Given the description of an element on the screen output the (x, y) to click on. 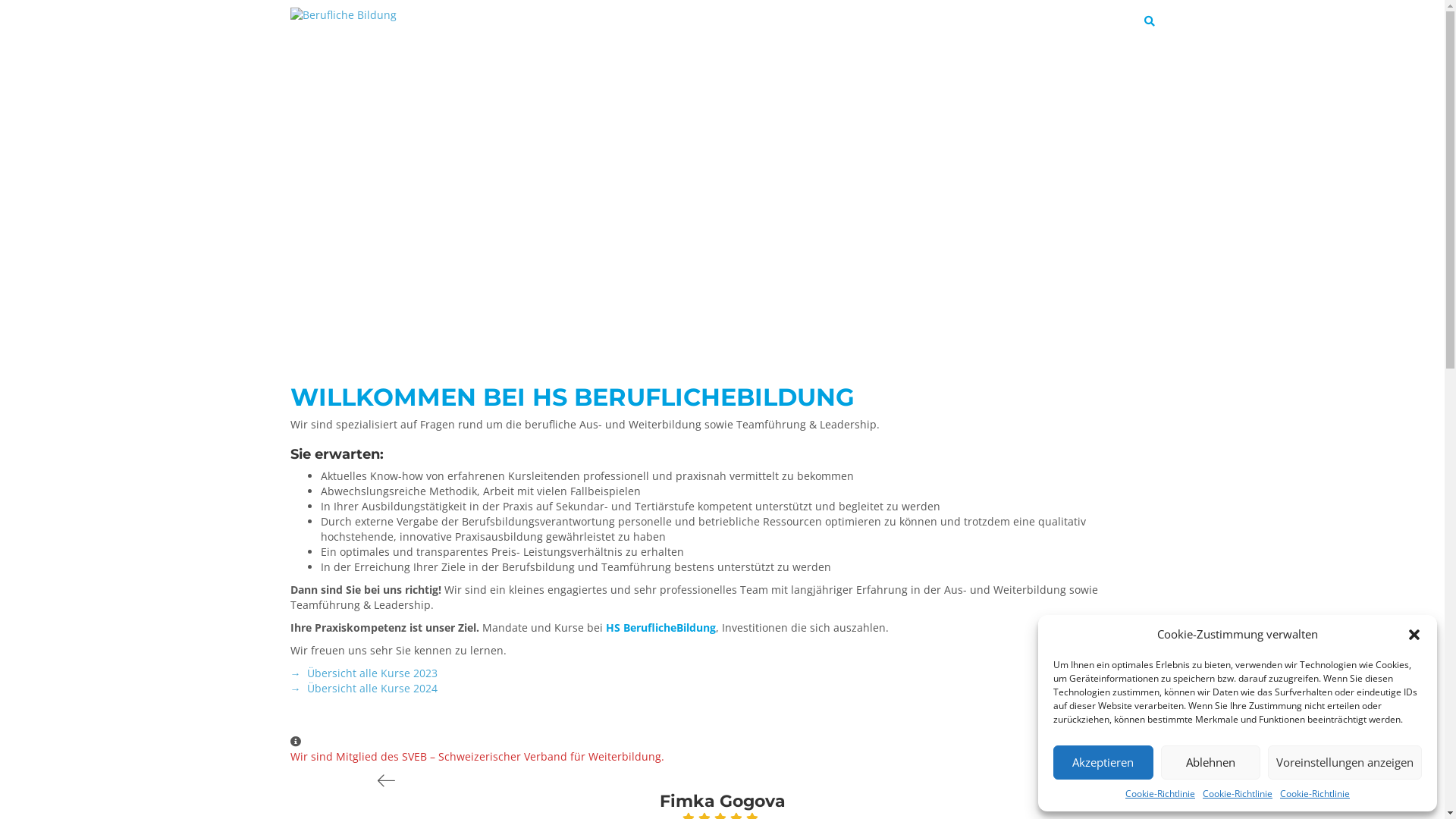
Cookie-Richtlinie Element type: text (1237, 793)
Akzeptieren Element type: text (1103, 762)
Ablehnen Element type: text (1210, 762)
Voreinstellungen anzeigen Element type: text (1344, 762)
Cookie-Richtlinie Element type: text (1314, 793)
Cookie-Richtlinie Element type: text (1160, 793)
